Given the description of an element on the screen output the (x, y) to click on. 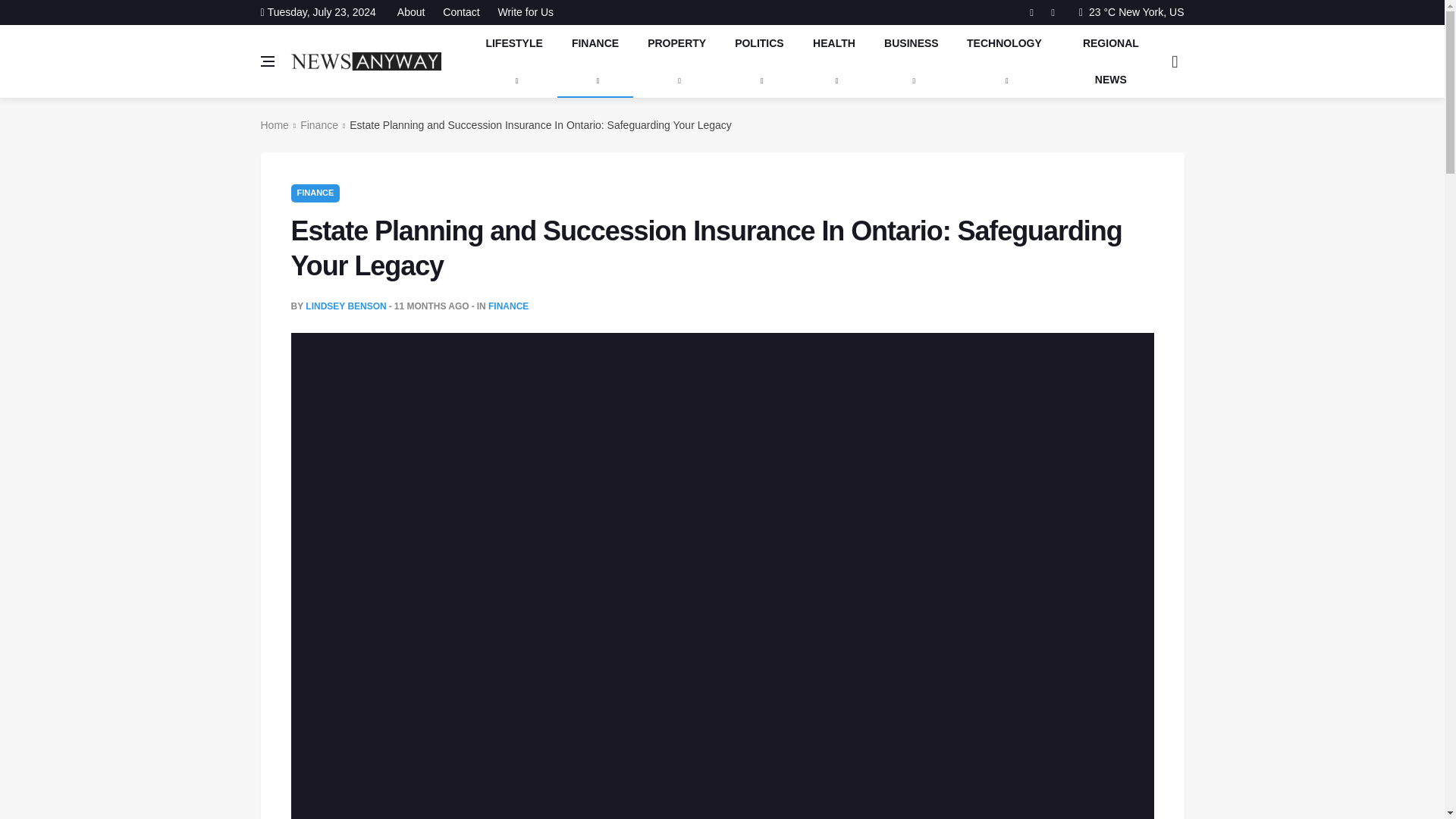
FINANCE (595, 61)
POLITICS (758, 61)
BUSINESS (911, 61)
FINANCE (315, 193)
Contact (460, 12)
Finance (318, 124)
LINDSEY BENSON (345, 306)
REGIONAL NEWS (1110, 61)
FINANCE (507, 306)
TECHNOLOGY (1005, 61)
Lindsey Benson (345, 306)
Twitter (1053, 12)
LIFESTYLE (514, 61)
HEALTH (833, 61)
Facebook (1031, 12)
